Given the description of an element on the screen output the (x, y) to click on. 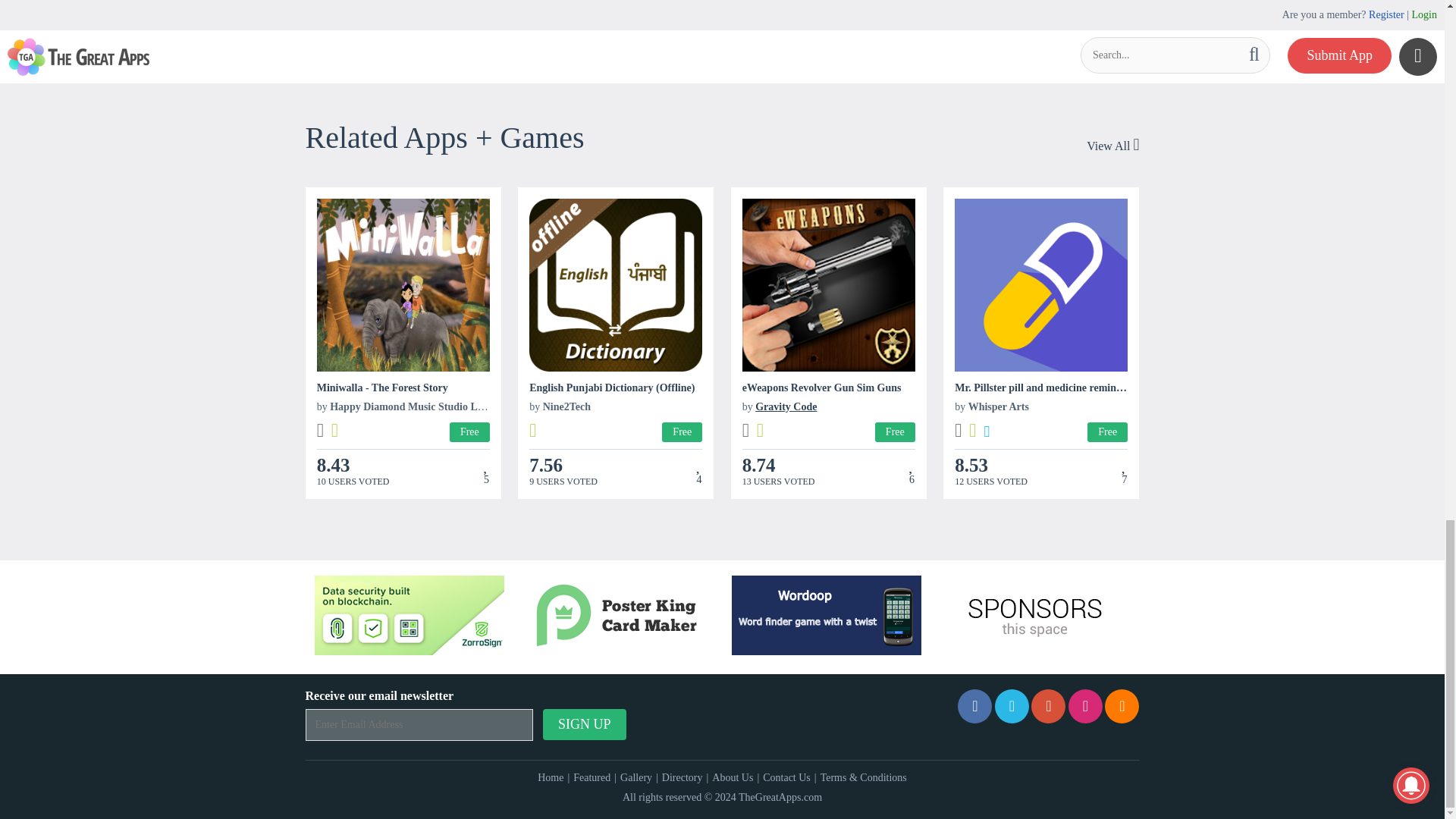
Wordoop Word Game (826, 615)
Sign up (584, 724)
Twitter (1011, 706)
Instagram (1085, 706)
Rss (1121, 706)
ZorroSign (408, 615)
Pinterest (1047, 706)
Poster King - Card Maker (617, 615)
Facebook (974, 706)
Sponsors Advertise with us (1034, 615)
